Given the description of an element on the screen output the (x, y) to click on. 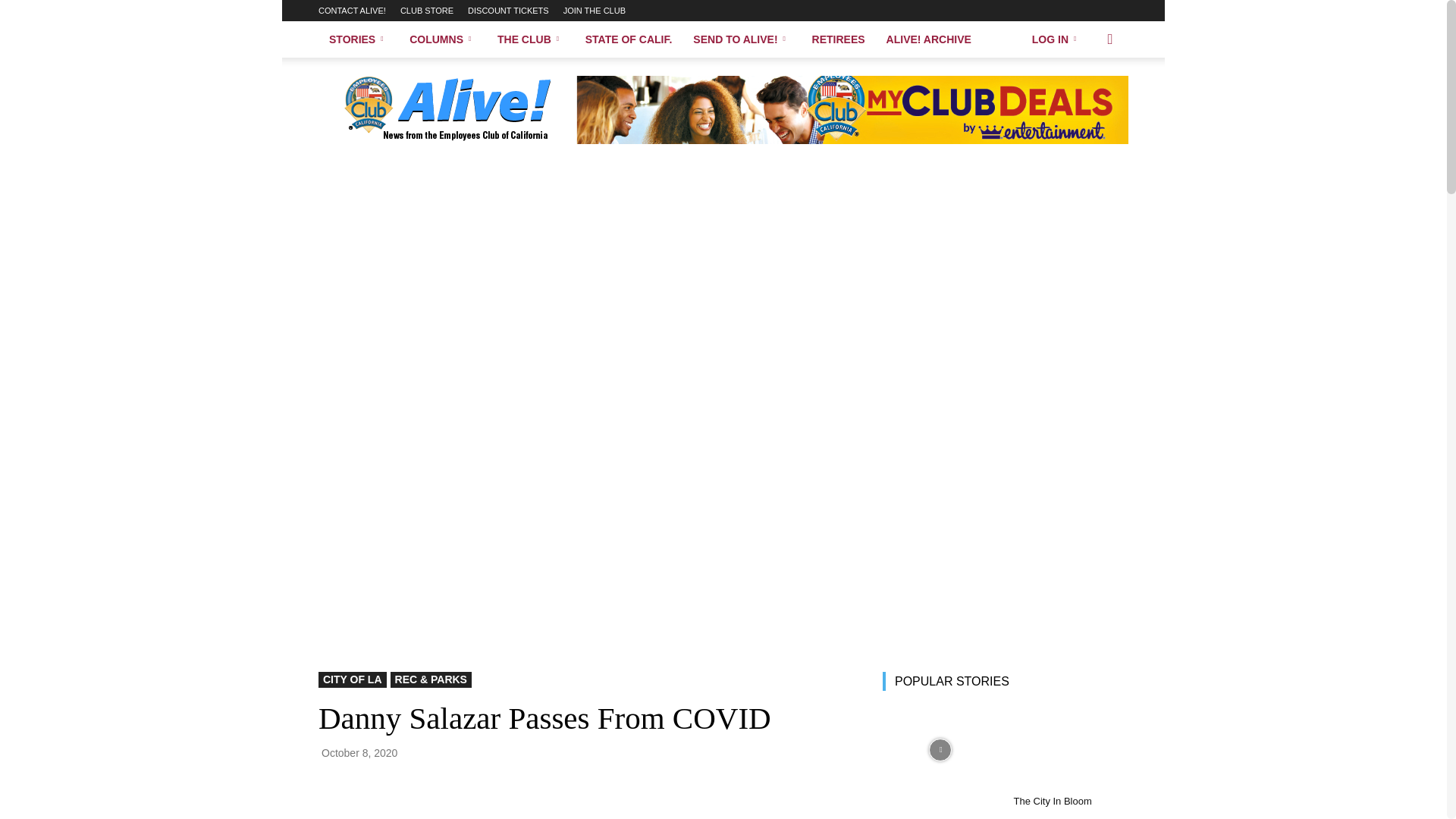
News for members of the Employees Club of California.  (446, 110)
